Given the description of an element on the screen output the (x, y) to click on. 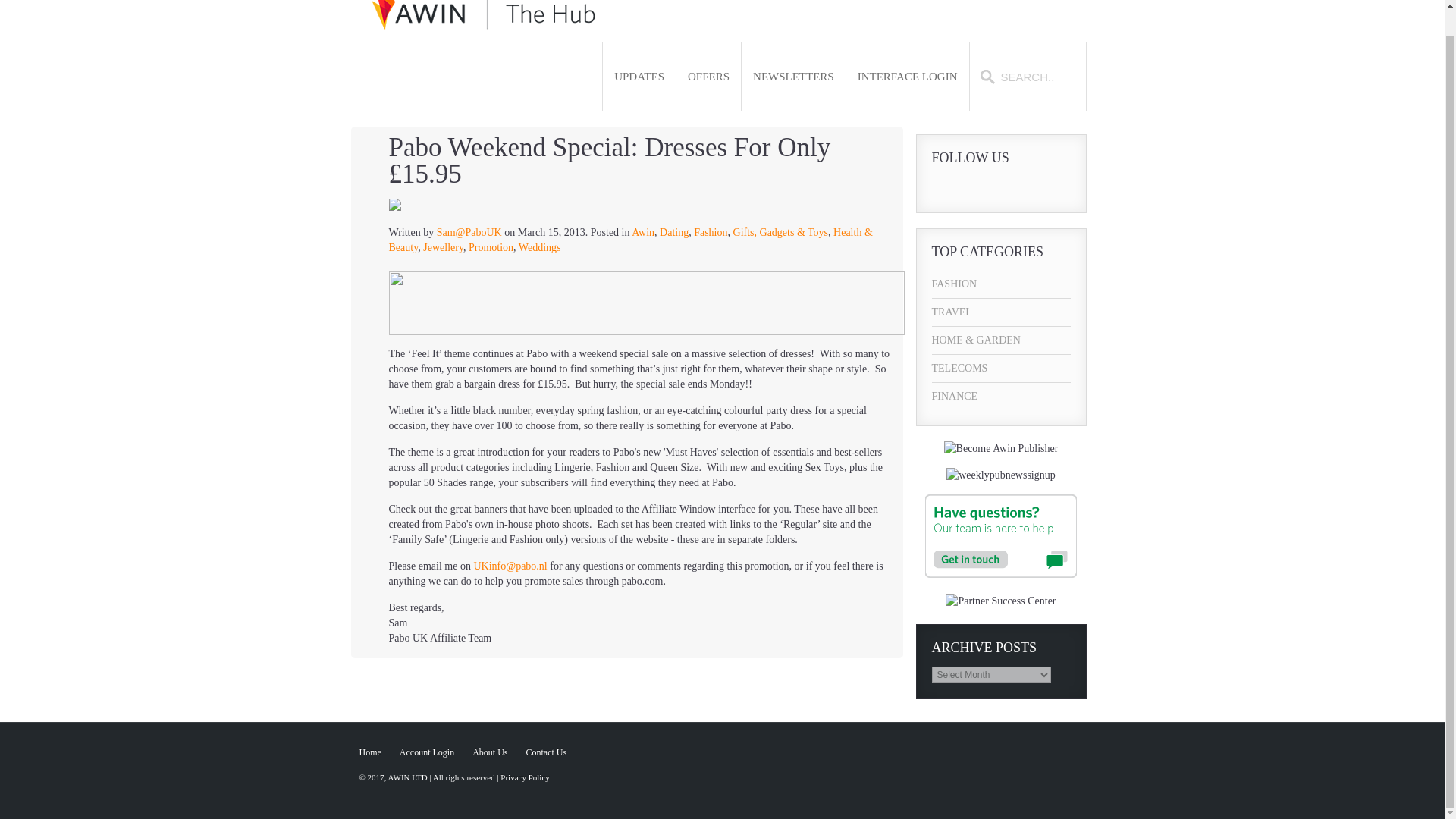
NEWSLETTERS (793, 76)
Interface Login (907, 76)
FASHION (1000, 284)
Jewellery (443, 247)
Promotion (490, 247)
Home (370, 752)
TRAVEL (1000, 311)
Weddings (539, 247)
Fashion (710, 232)
OFFERS (708, 76)
TELECOMS (1000, 368)
Account Login (426, 752)
UPDATES (639, 76)
Dating (673, 232)
INTERFACE LOGIN (907, 76)
